Given the description of an element on the screen output the (x, y) to click on. 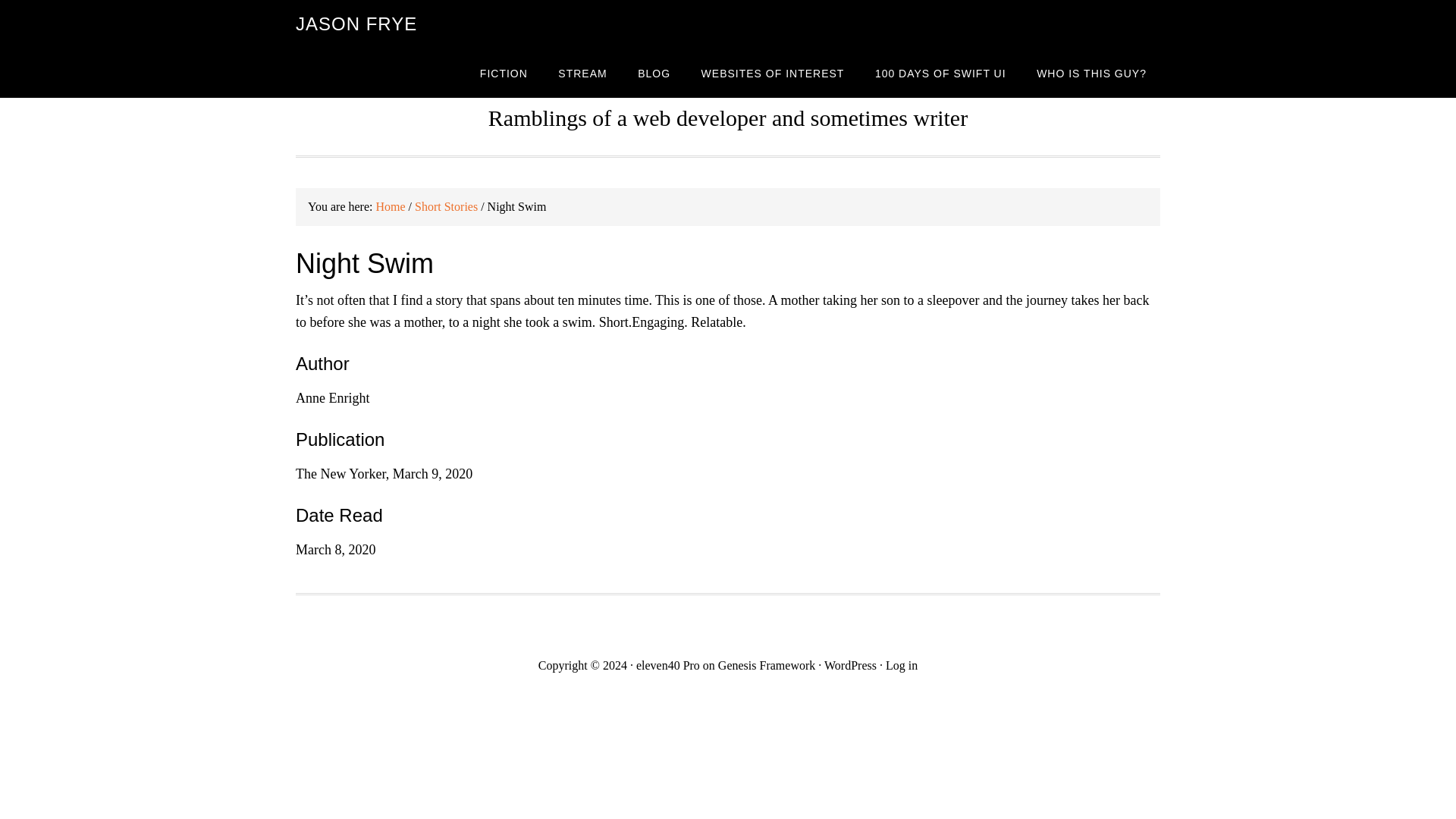
Home (389, 205)
WEBSITES OF INTEREST (773, 72)
Log in (901, 665)
Genesis Framework (766, 665)
eleven40 Pro (668, 665)
100 DAYS OF SWIFT UI (940, 72)
JASON FRYE (355, 23)
Short Stories (445, 205)
WHO IS THIS GUY? (1091, 72)
FICTION (503, 72)
WordPress (850, 665)
STREAM (582, 72)
BLOG (654, 72)
